Given the description of an element on the screen output the (x, y) to click on. 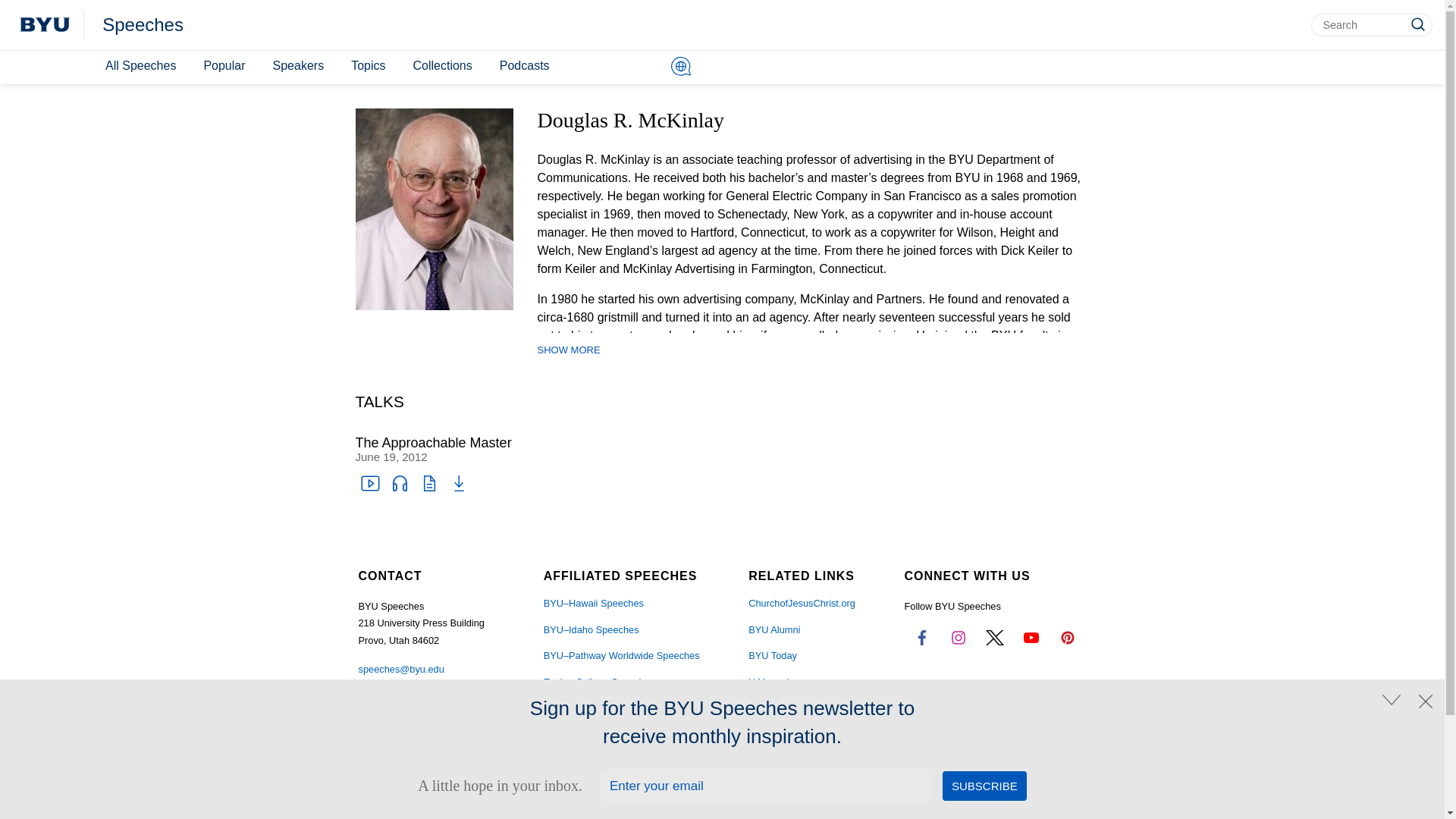
The Approachable Master (433, 442)
Collections (441, 65)
Popular (223, 65)
Subscribe (984, 785)
All Speeches (140, 65)
Topics (368, 65)
Speeches (142, 25)
Subscribe (984, 785)
SHOW MORE (568, 350)
Speakers (298, 65)
Podcasts (524, 65)
